Given the description of an element on the screen output the (x, y) to click on. 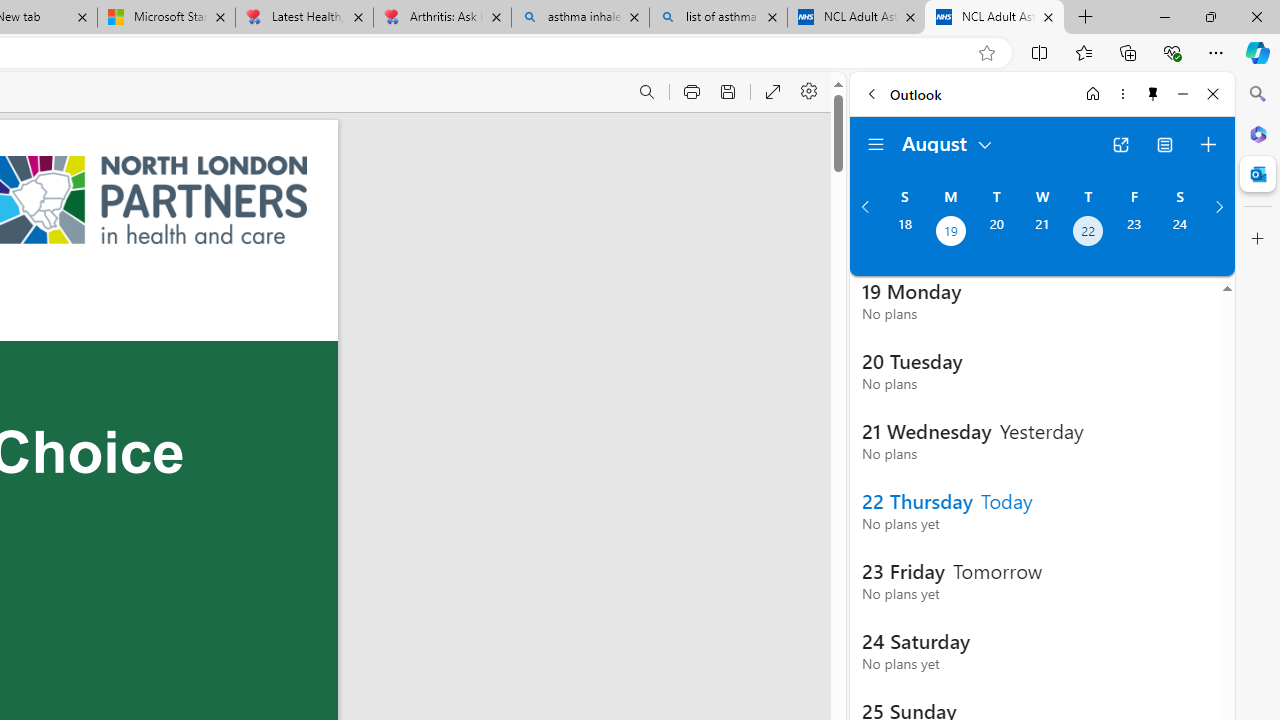
asthma inhaler - Search (580, 17)
Wednesday, August 21, 2024.  (1042, 233)
Sunday, August 18, 2024.  (904, 233)
Print (Ctrl+P) (692, 92)
August (948, 141)
Tuesday, August 20, 2024.  (996, 233)
